Given the description of an element on the screen output the (x, y) to click on. 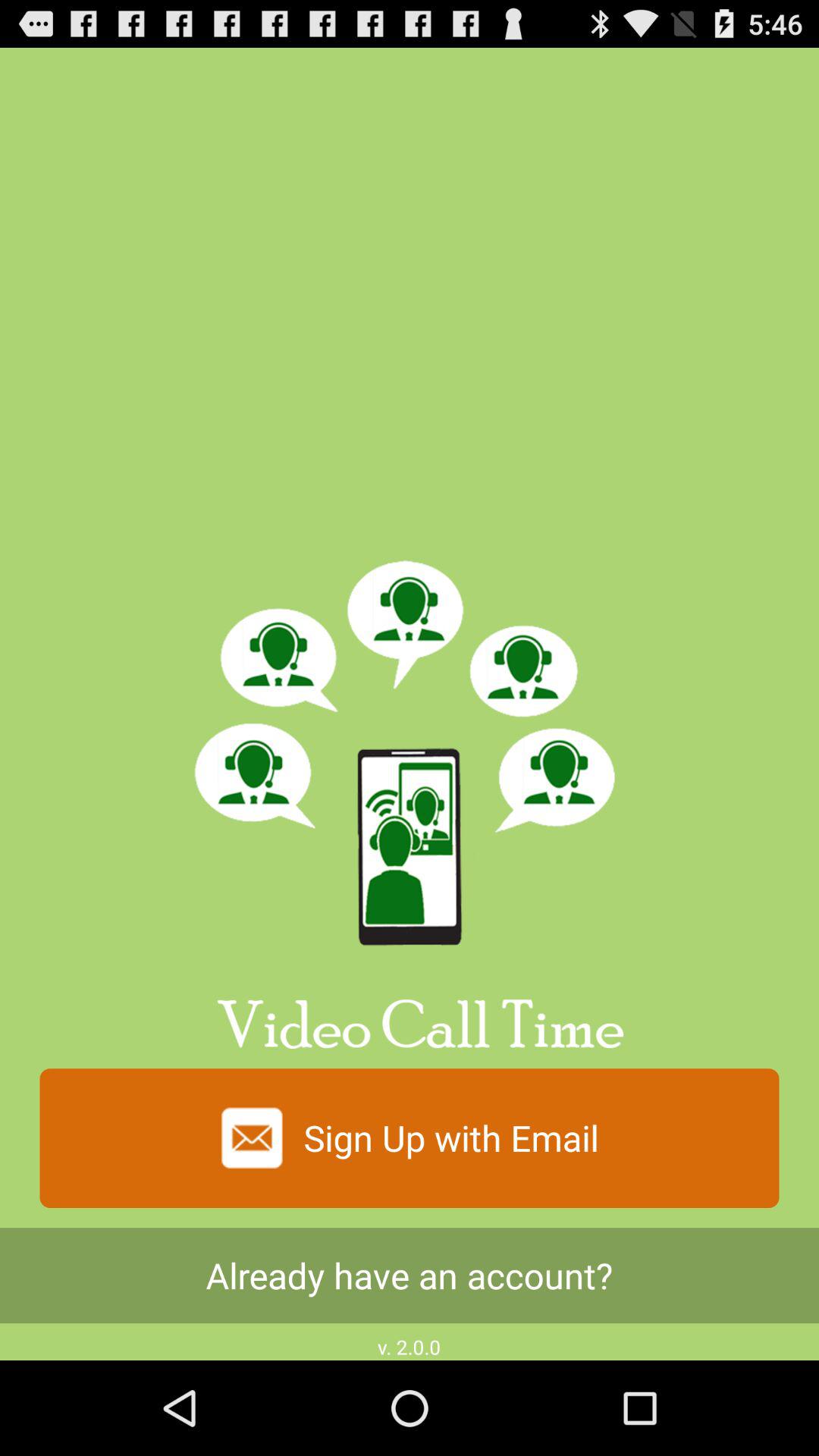
launch item above v 2 0 icon (409, 1275)
